Given the description of an element on the screen output the (x, y) to click on. 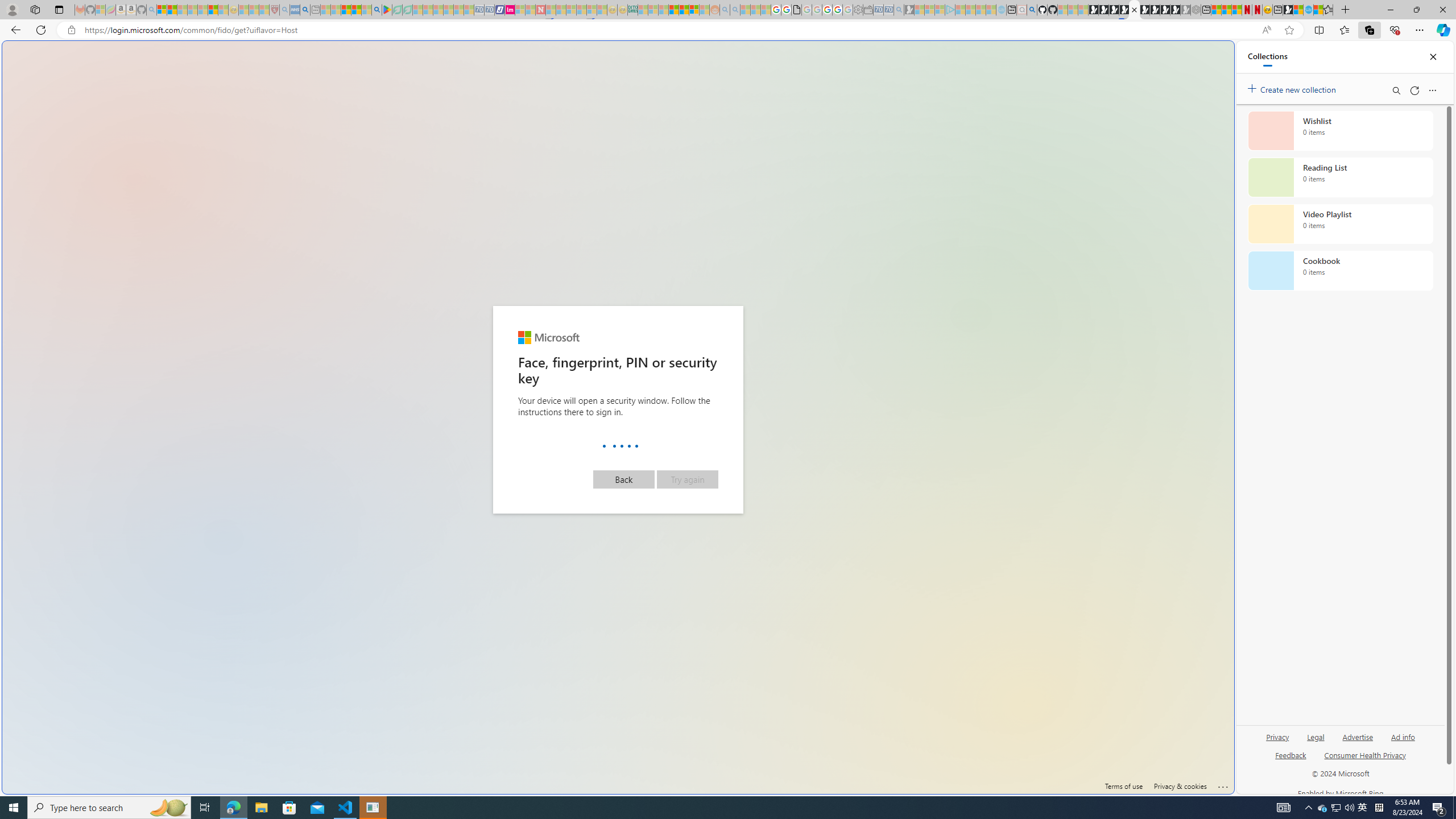
utah sues federal government - Search (922, 389)
Play Cave FRVR in your browser | Games from Microsoft Start (1113, 9)
Home | Sky Blue Bikes - Sky Blue Bikes (1307, 9)
Consumer Health Privacy (1364, 759)
Terms of use (1123, 786)
